Given the description of an element on the screen output the (x, y) to click on. 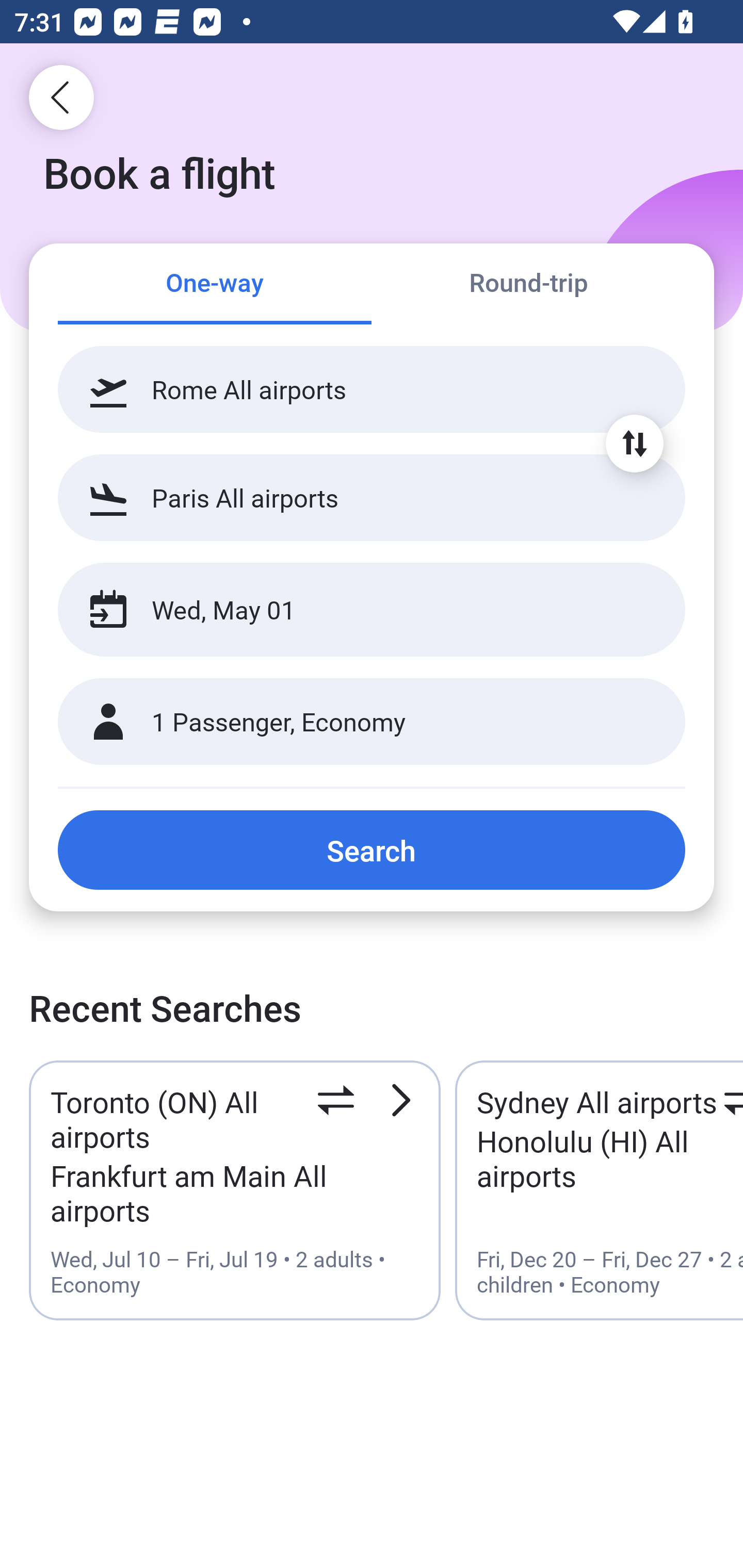
Round-trip (528, 284)
Rome All airports (371, 389)
Paris All airports (371, 497)
Wed, May 01 (349, 609)
1 Passenger, Economy (371, 721)
Search (371, 849)
